Given the description of an element on the screen output the (x, y) to click on. 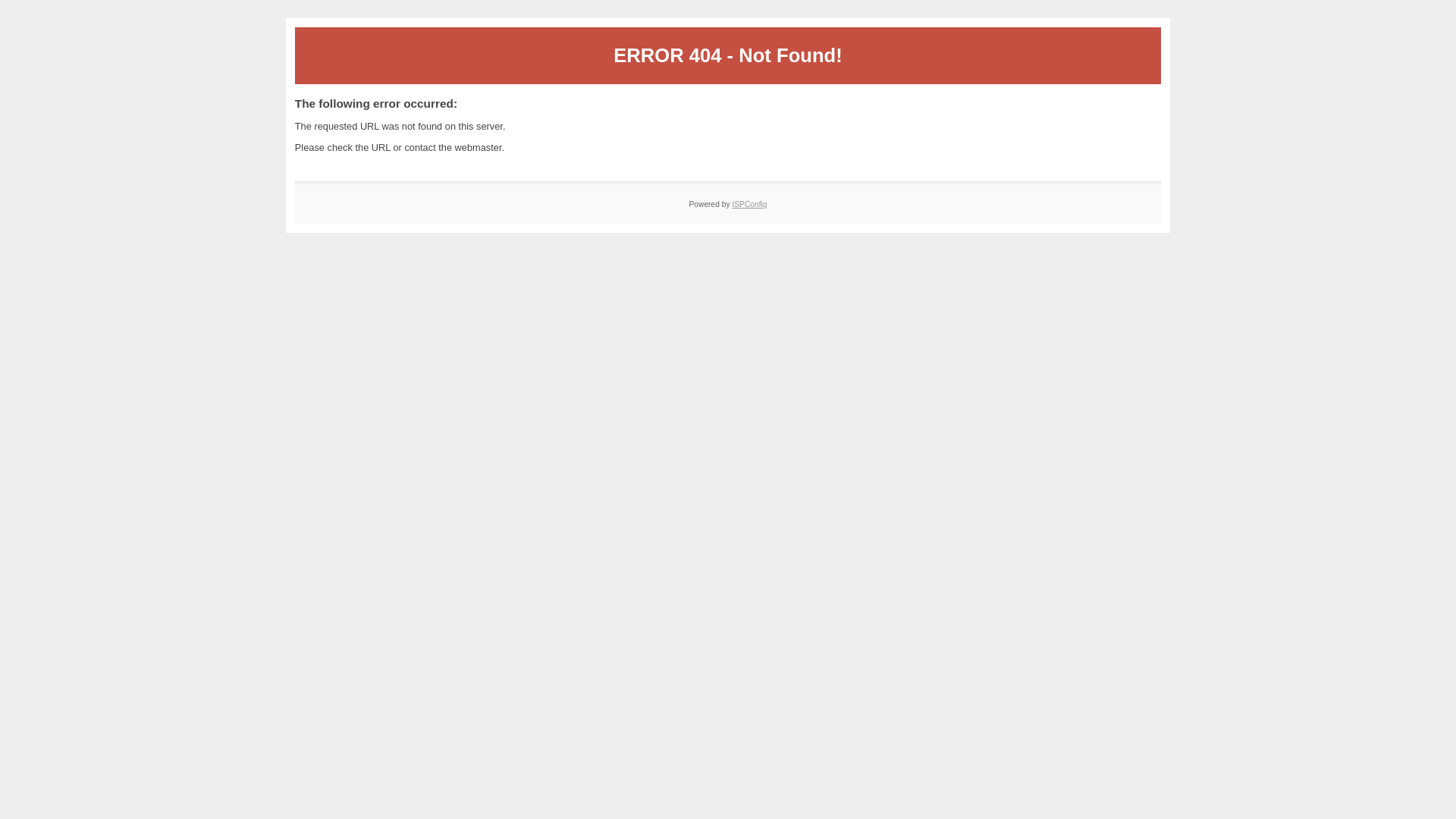
ISPConfig (749, 203)
